Given the description of an element on the screen output the (x, y) to click on. 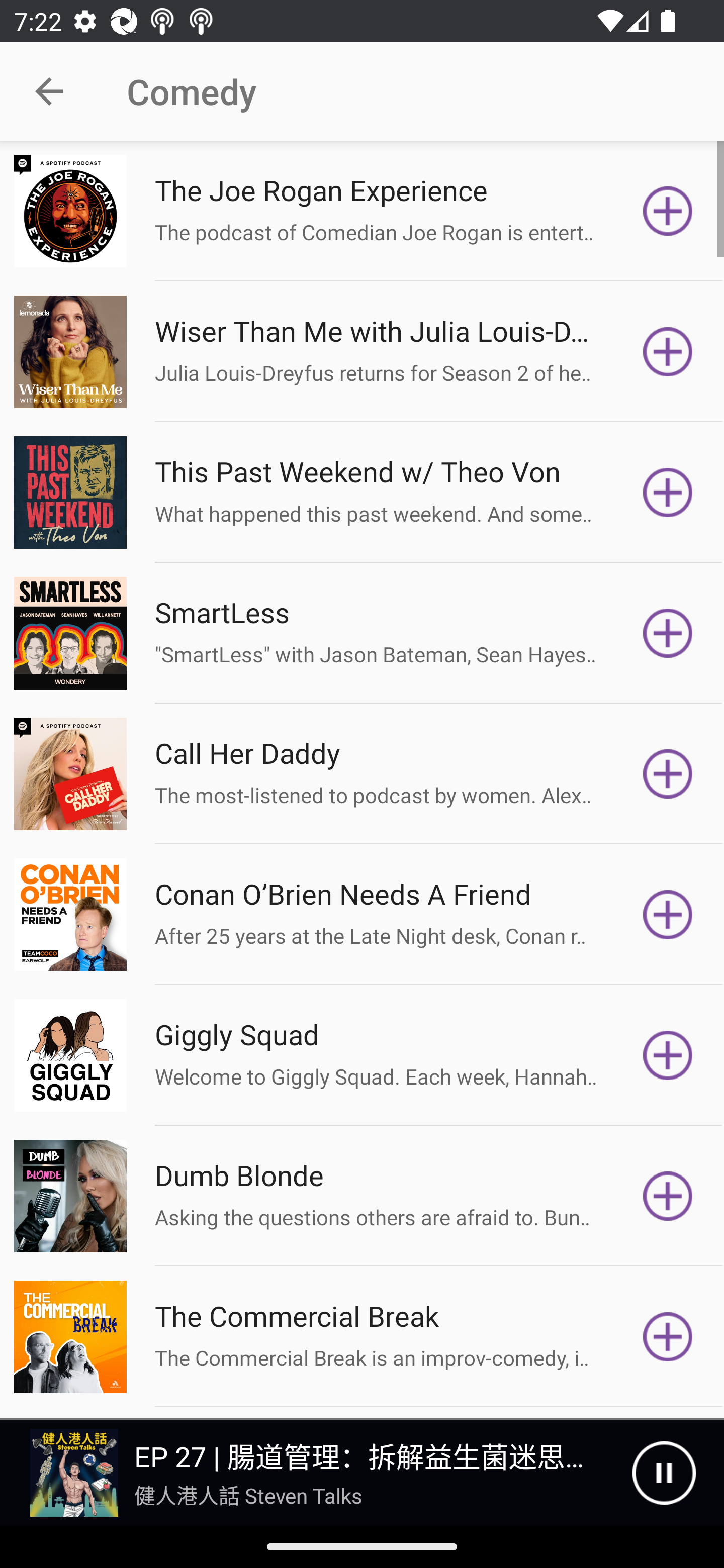
Navigate up (49, 91)
Subscribe (667, 211)
Subscribe (667, 350)
Subscribe (667, 491)
Subscribe (667, 633)
Subscribe (667, 773)
Subscribe (667, 913)
Subscribe (667, 1054)
Subscribe (667, 1195)
Subscribe (667, 1336)
Pause (663, 1472)
